Given the description of an element on the screen output the (x, y) to click on. 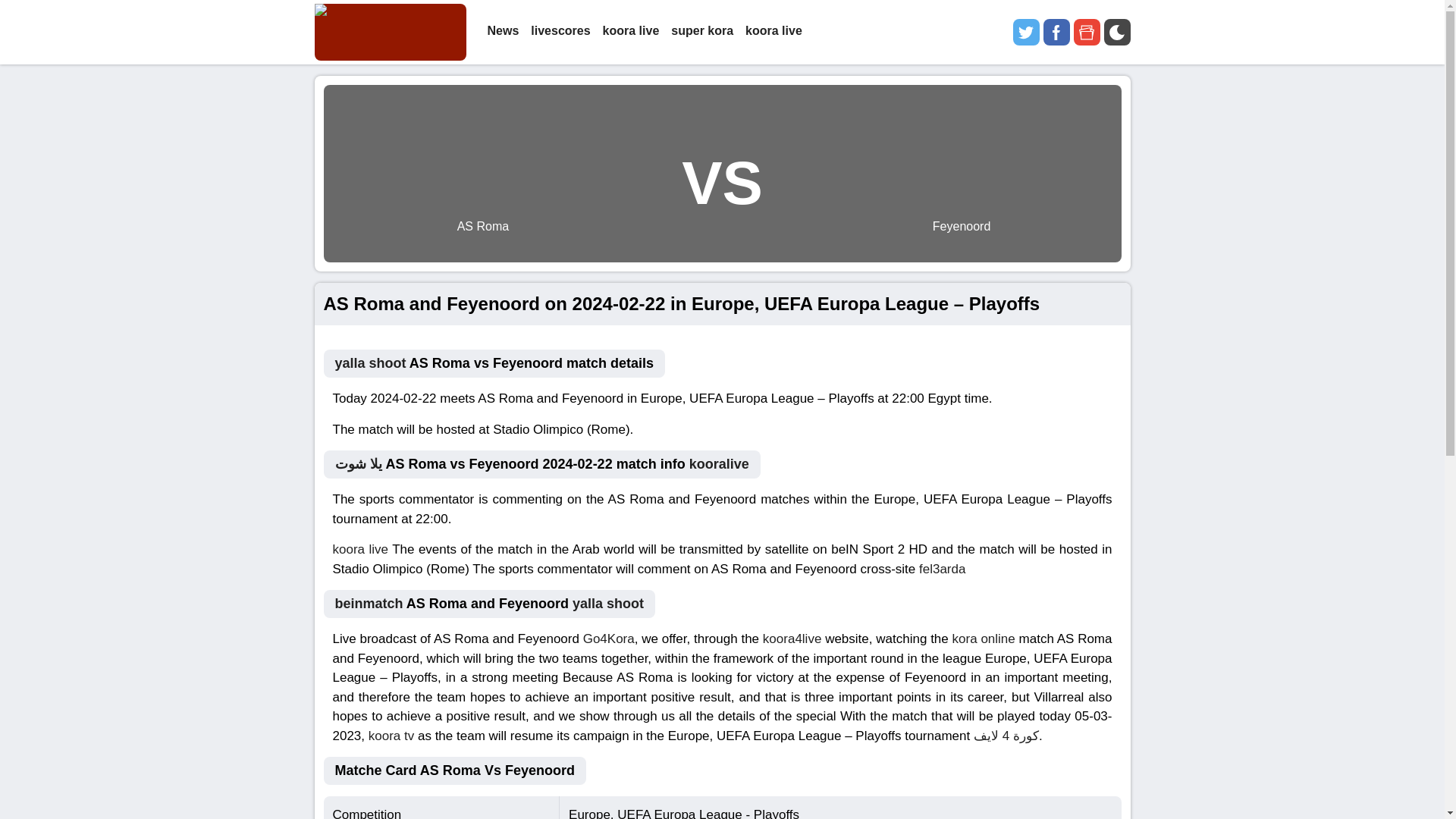
fel3arda (941, 568)
kora online (983, 638)
koora tv (390, 735)
yalla shoot (370, 363)
yalla goal English yalla shoot Free Live Sports Stream (389, 32)
super kora (702, 31)
Go4Kora (608, 638)
News (502, 31)
koora live (773, 31)
beinmatch (368, 603)
kooralive (718, 463)
koora4live (792, 638)
yalla shoot (607, 603)
koora live (359, 549)
livescores (559, 31)
